Given the description of an element on the screen output the (x, y) to click on. 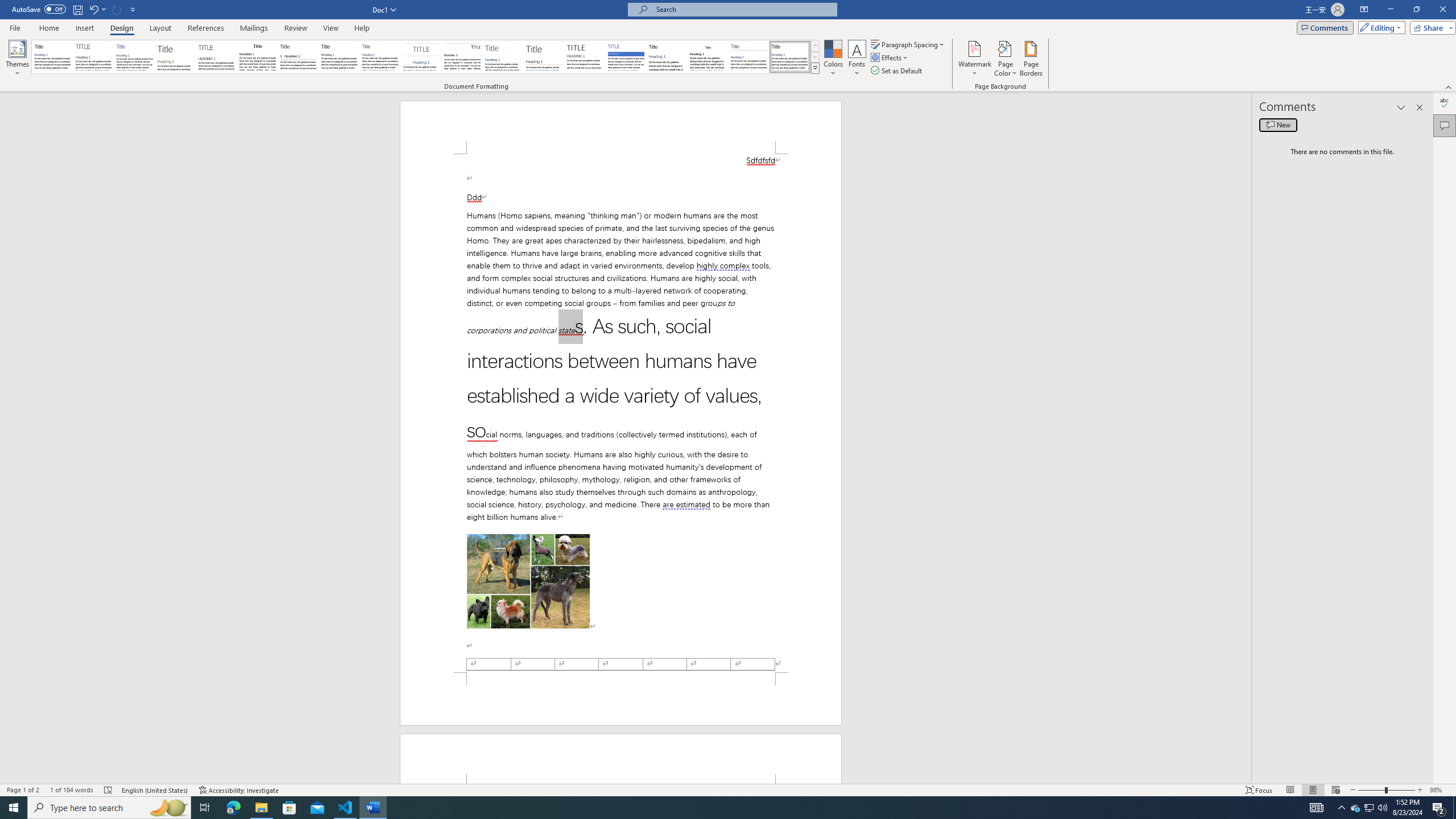
Editing (1379, 27)
Word 2013 (790, 56)
Black & White (Classic) (257, 56)
Word 2003 (707, 56)
Minimalist (584, 56)
Style Set (814, 67)
Basic (Stylish) (175, 56)
Lines (Stylish) (544, 56)
